Given the description of an element on the screen output the (x, y) to click on. 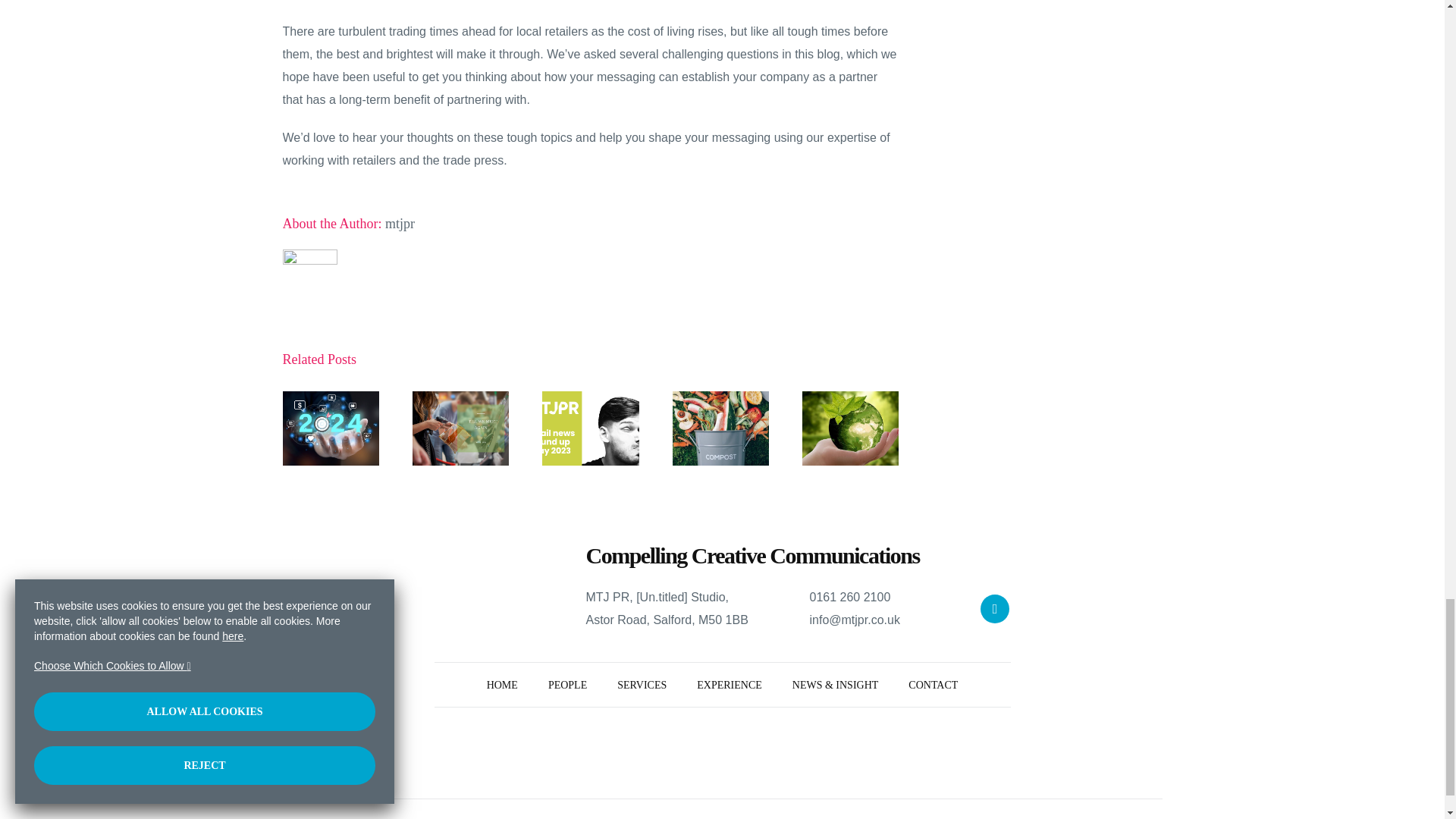
Posts by mtjpr (399, 223)
X (994, 608)
MTJ Associates (502, 685)
